Given the description of an element on the screen output the (x, y) to click on. 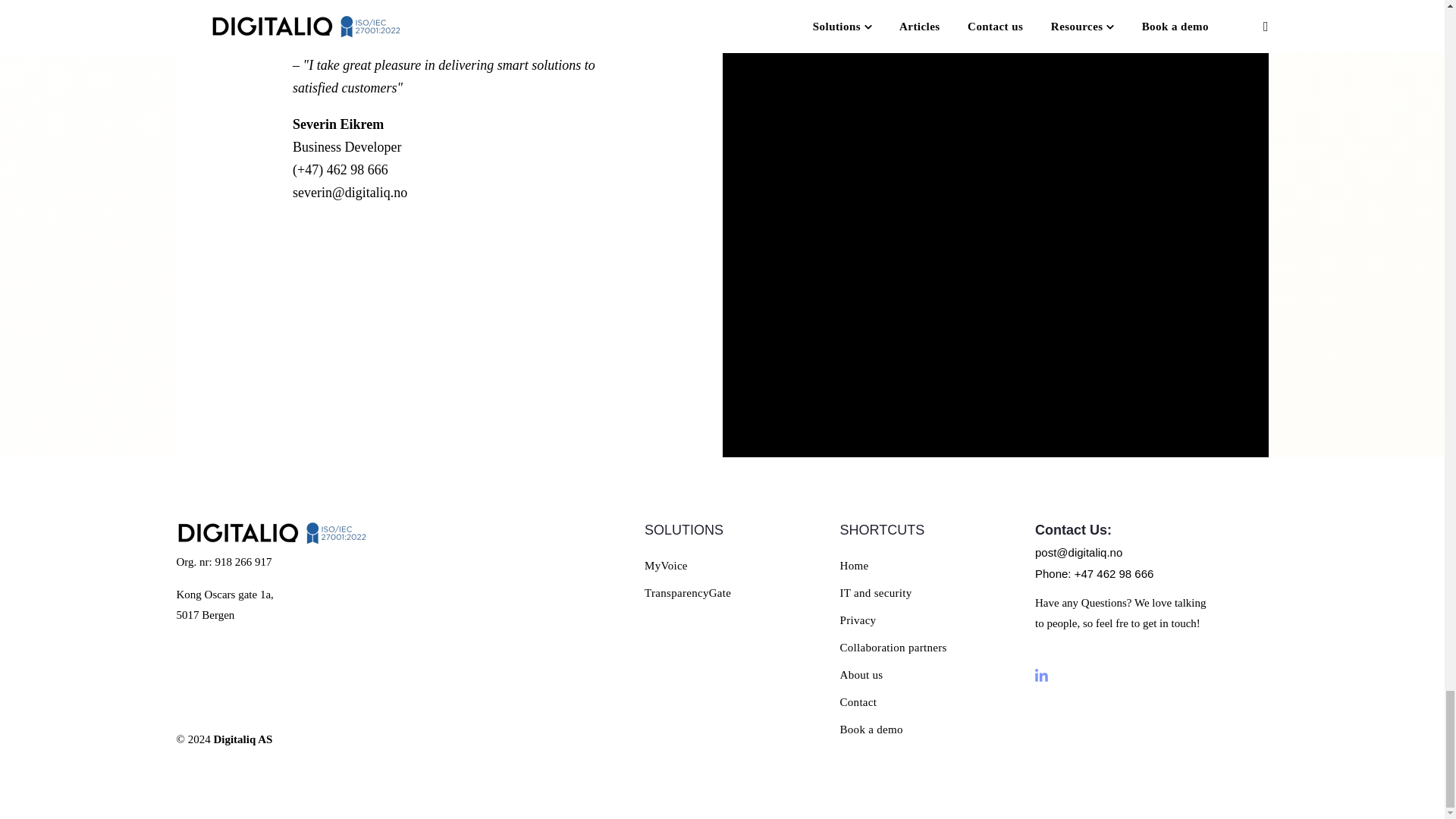
Contact (858, 702)
MyVoice (666, 565)
Collaboration partners (893, 647)
Privacy (858, 620)
Book a demo (871, 729)
TransparencyGate (687, 592)
Digitaliq (270, 532)
IT and security (876, 592)
Home (854, 565)
About us (861, 674)
